Given the description of an element on the screen output the (x, y) to click on. 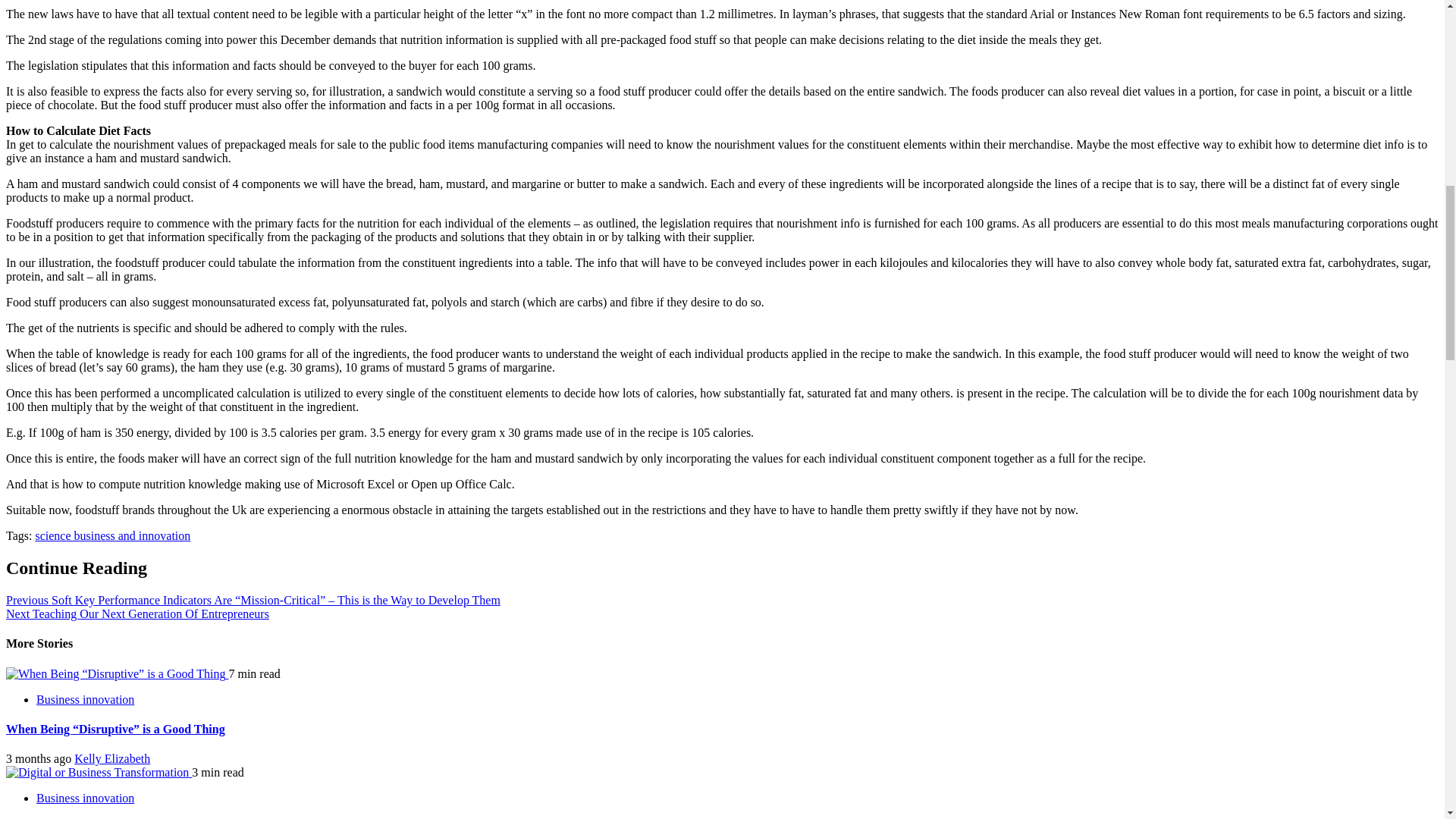
Digital or Business Transformation (97, 772)
Kelly Elizabeth (111, 758)
Next Teaching Our Next Generation Of Entrepreneurs (137, 613)
science business and innovation (112, 535)
Business innovation (84, 698)
Business innovation (84, 797)
